Given the description of an element on the screen output the (x, y) to click on. 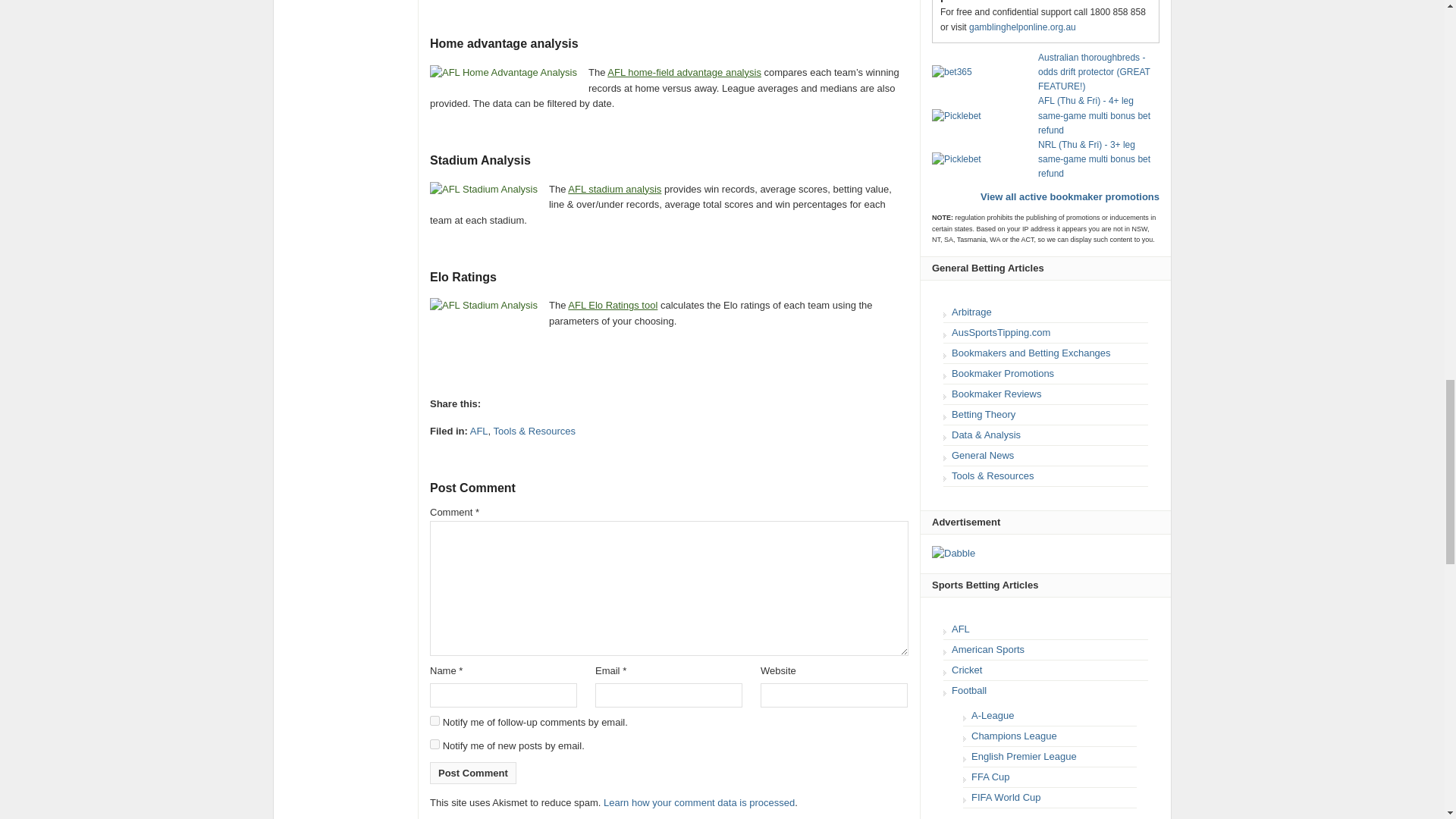
subscribe (434, 720)
Post Comment (472, 772)
subscribe (434, 744)
